Given the description of an element on the screen output the (x, y) to click on. 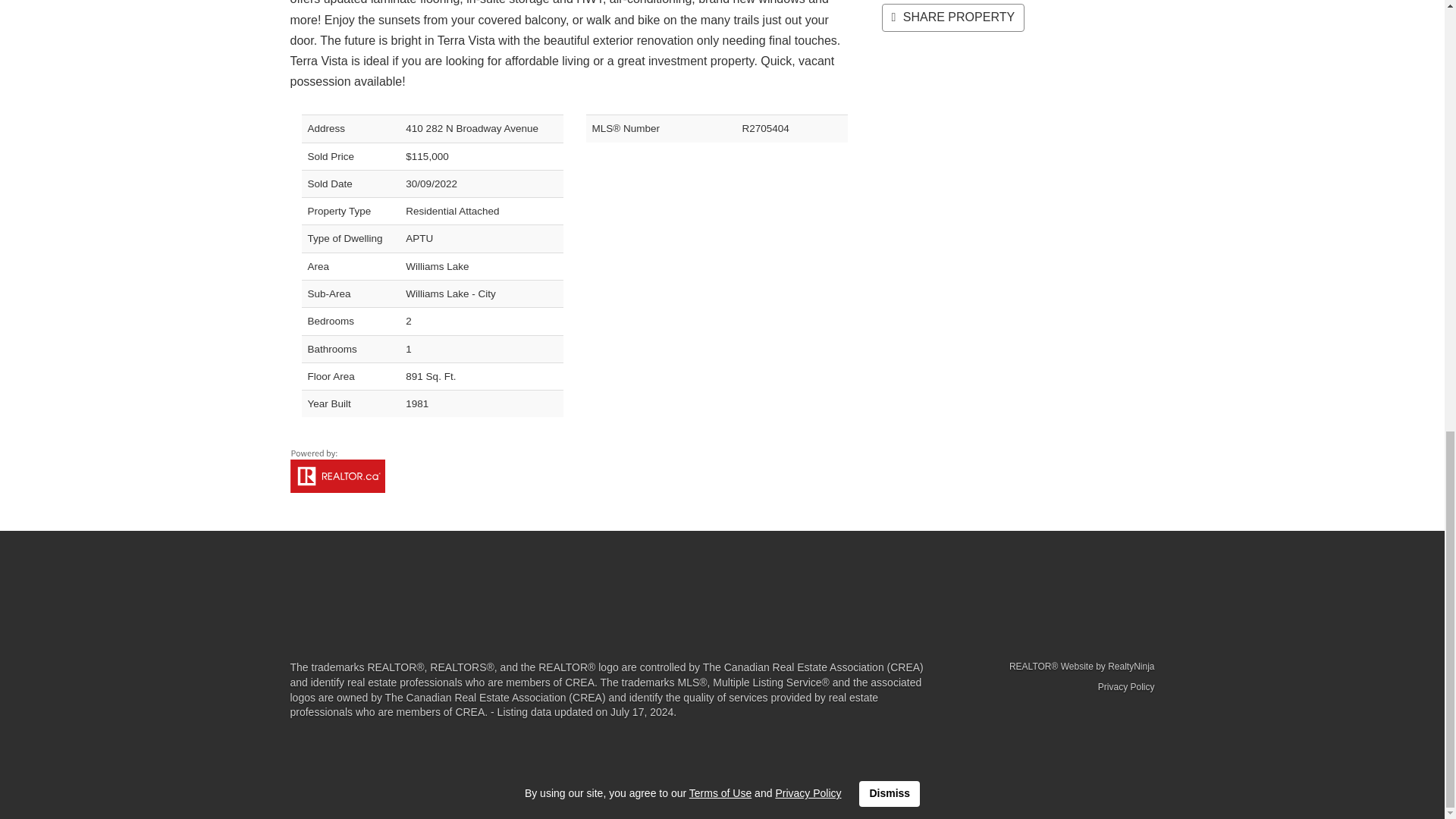
SHARE PROPERTY (952, 17)
Privacy Policy (1125, 686)
